Given the description of an element on the screen output the (x, y) to click on. 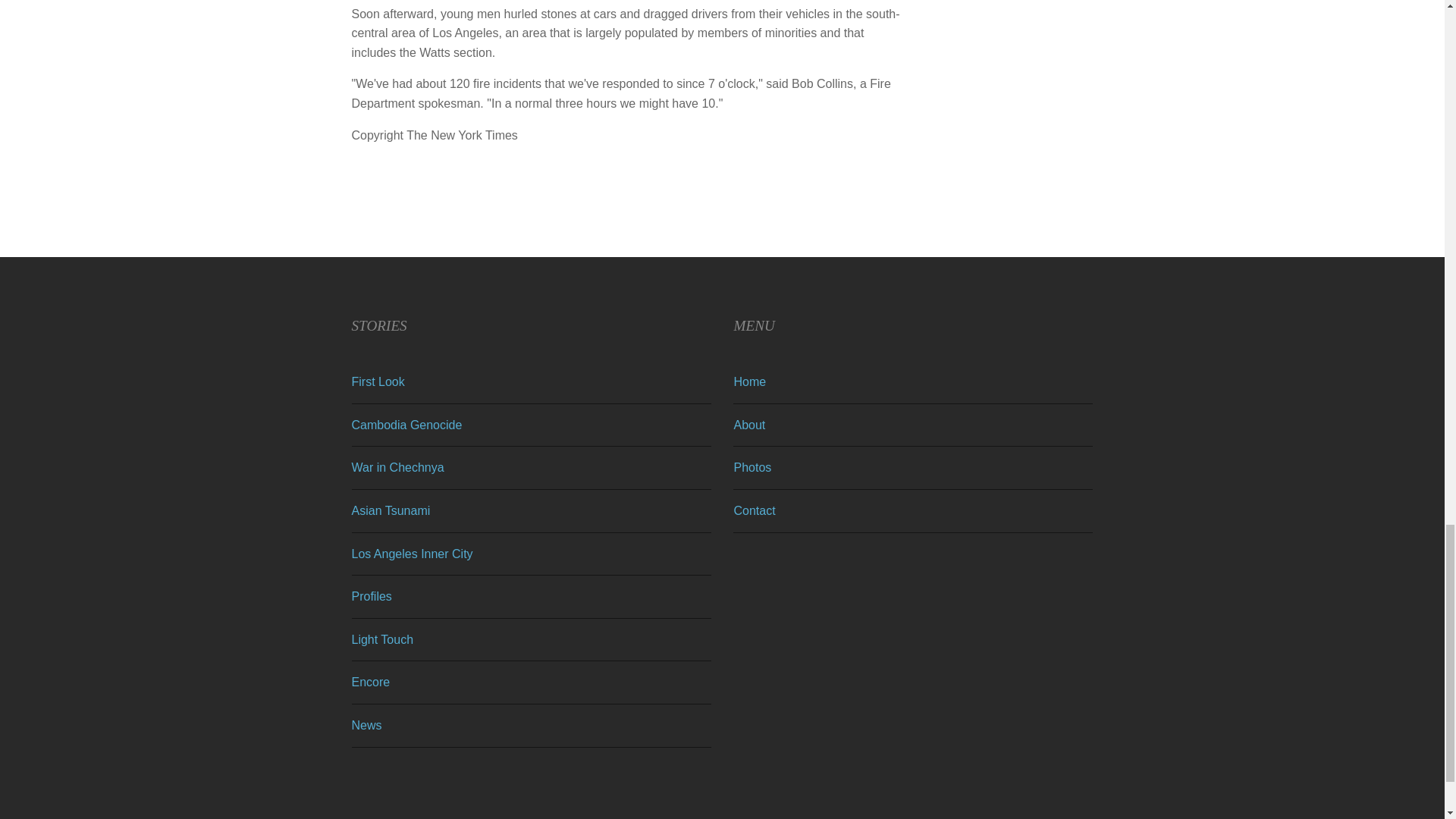
Los Angeles Inner City (412, 553)
Contact (753, 510)
Encore (371, 681)
Home (749, 381)
Profiles (371, 595)
War in Chechnya (398, 467)
Light Touch (382, 639)
Cambodia Genocide (407, 424)
Photos (752, 467)
First Look (378, 381)
